Given the description of an element on the screen output the (x, y) to click on. 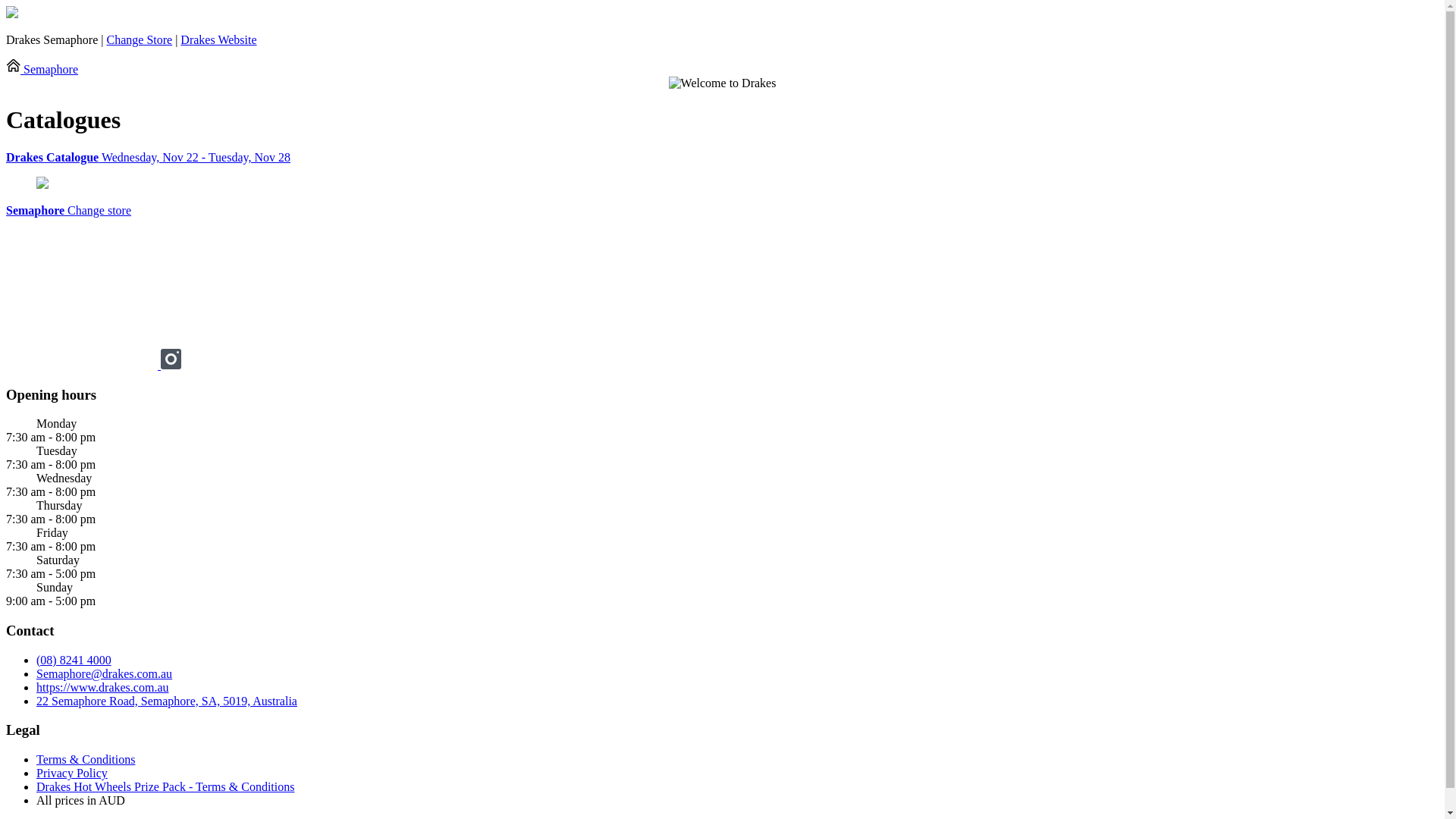
Semaphore Element type: text (42, 68)
Drakes Hot Wheels Prize Pack - Terms & Conditions Element type: text (165, 786)
https://www.drakes.com.au Element type: text (102, 686)
Facebook Element type: hover (83, 364)
Semaphore Change store Element type: text (68, 209)
Instagram drakessupermarkets Element type: hover (170, 364)
(08) 8241 4000 Element type: text (73, 659)
Terms & Conditions Element type: text (85, 759)
22 Semaphore Road, Semaphore, SA, 5019, Australia Element type: text (166, 700)
Semaphore@drakes.com.au Element type: text (104, 673)
Drakes Website Element type: text (218, 39)
Change Store Element type: text (139, 39)
Privacy Policy Element type: text (71, 772)
Drakes Catalogue Wednesday, Nov 22 - Tuesday, Nov 28 Element type: text (722, 156)
